Given the description of an element on the screen output the (x, y) to click on. 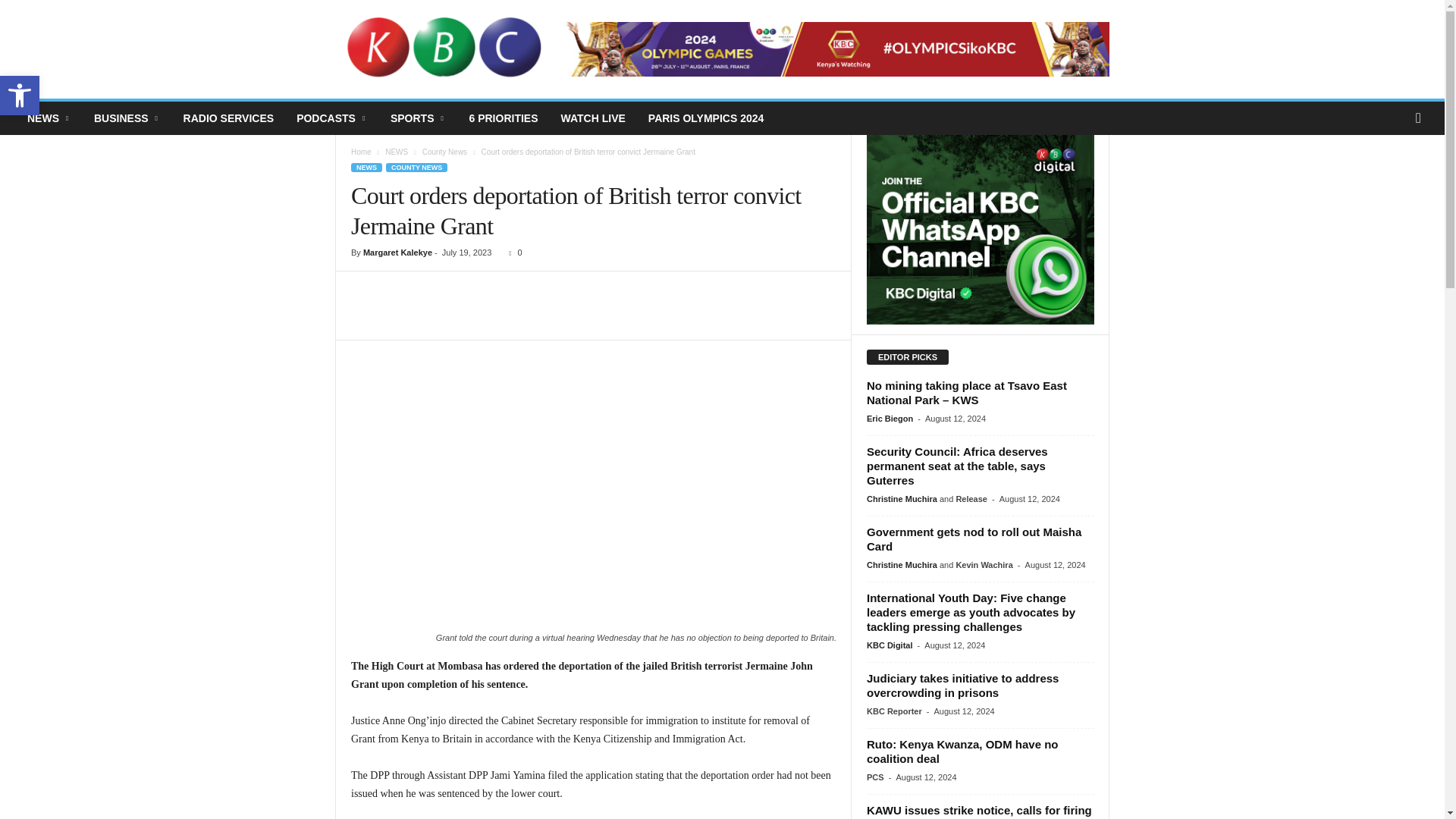
Accessibility Tools (19, 95)
Accessibility Tools (19, 95)
